Given the description of an element on the screen output the (x, y) to click on. 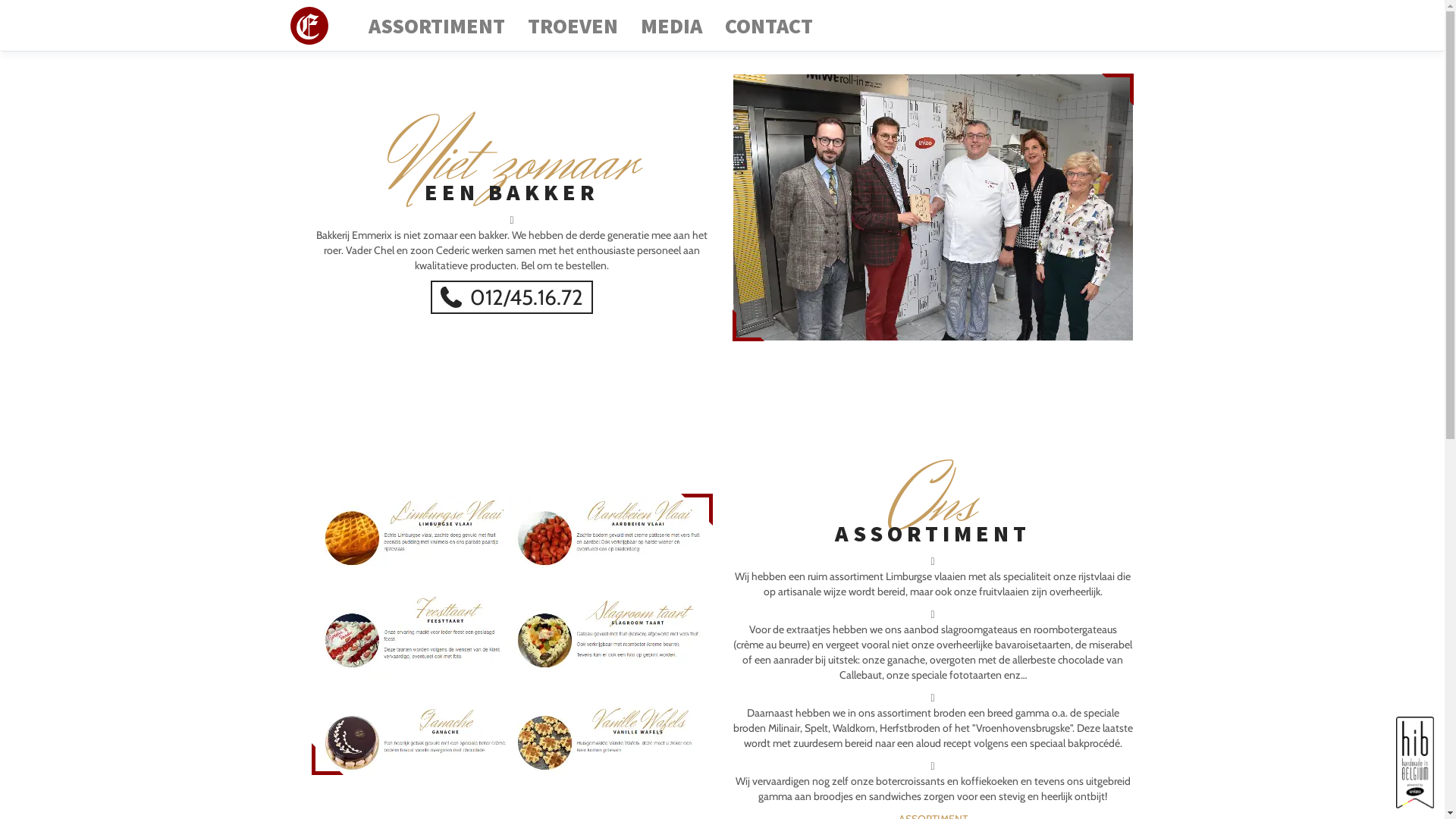
TROEVEN Element type: text (572, 25)
MEDIA Element type: text (671, 25)
012/45.16.72 Element type: text (511, 296)
CONTACT Element type: text (768, 25)
ASSORTIMENT Element type: text (436, 25)
E Element type: text (308, 25)
